Given the description of an element on the screen output the (x, y) to click on. 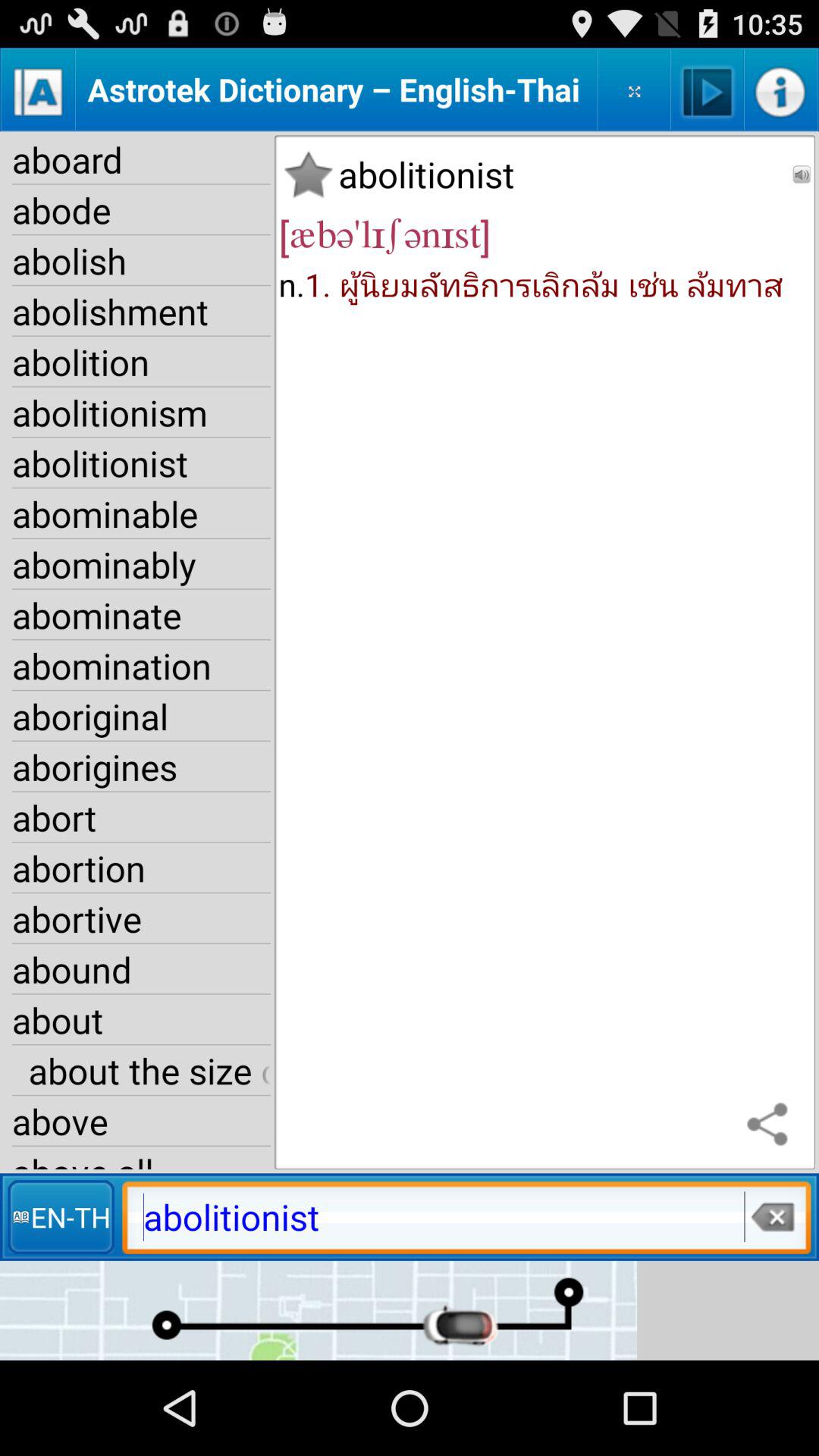
select icon above abolitionist item (771, 1125)
